Given the description of an element on the screen output the (x, y) to click on. 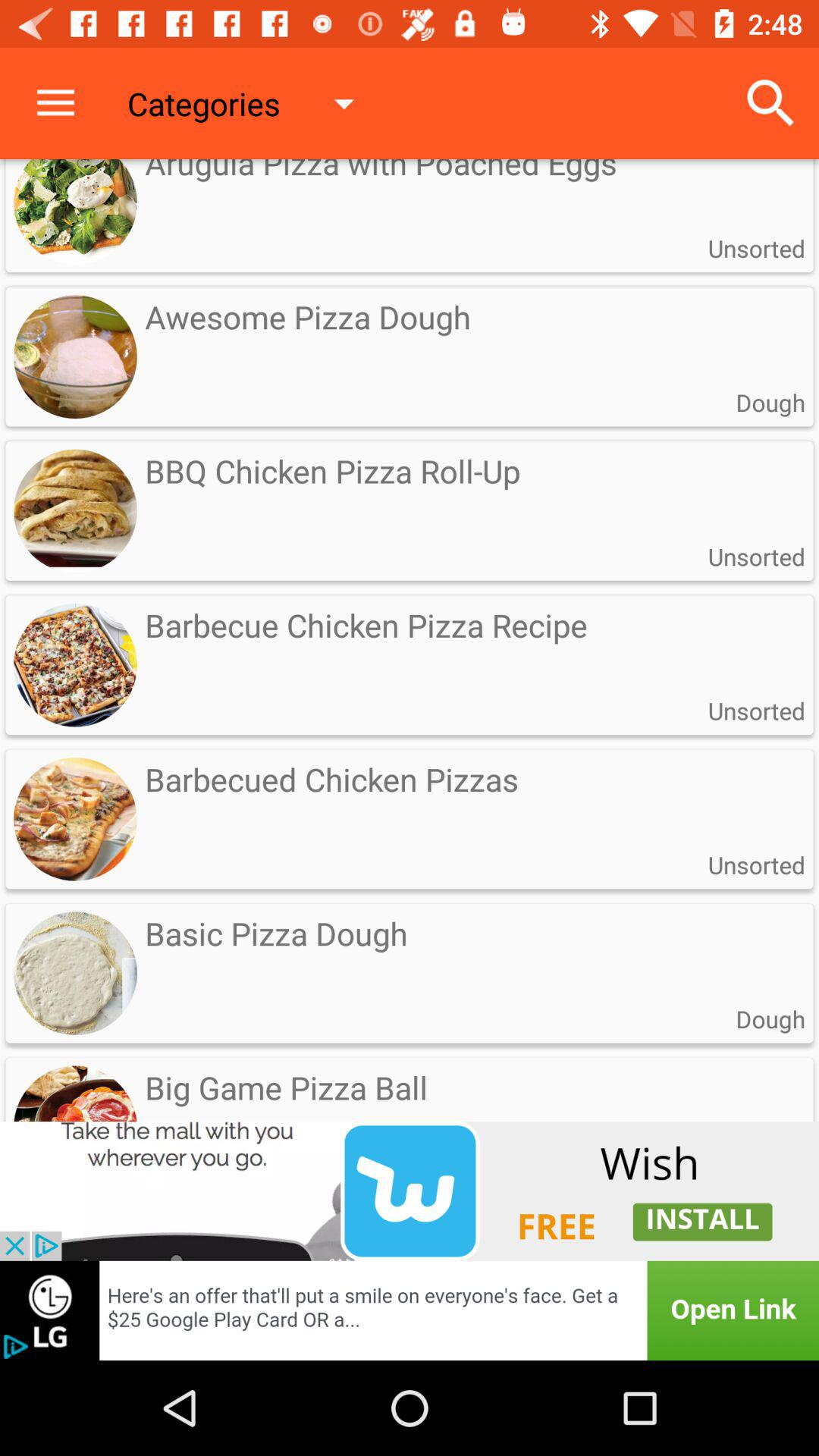
add the option (409, 1310)
